Given the description of an element on the screen output the (x, y) to click on. 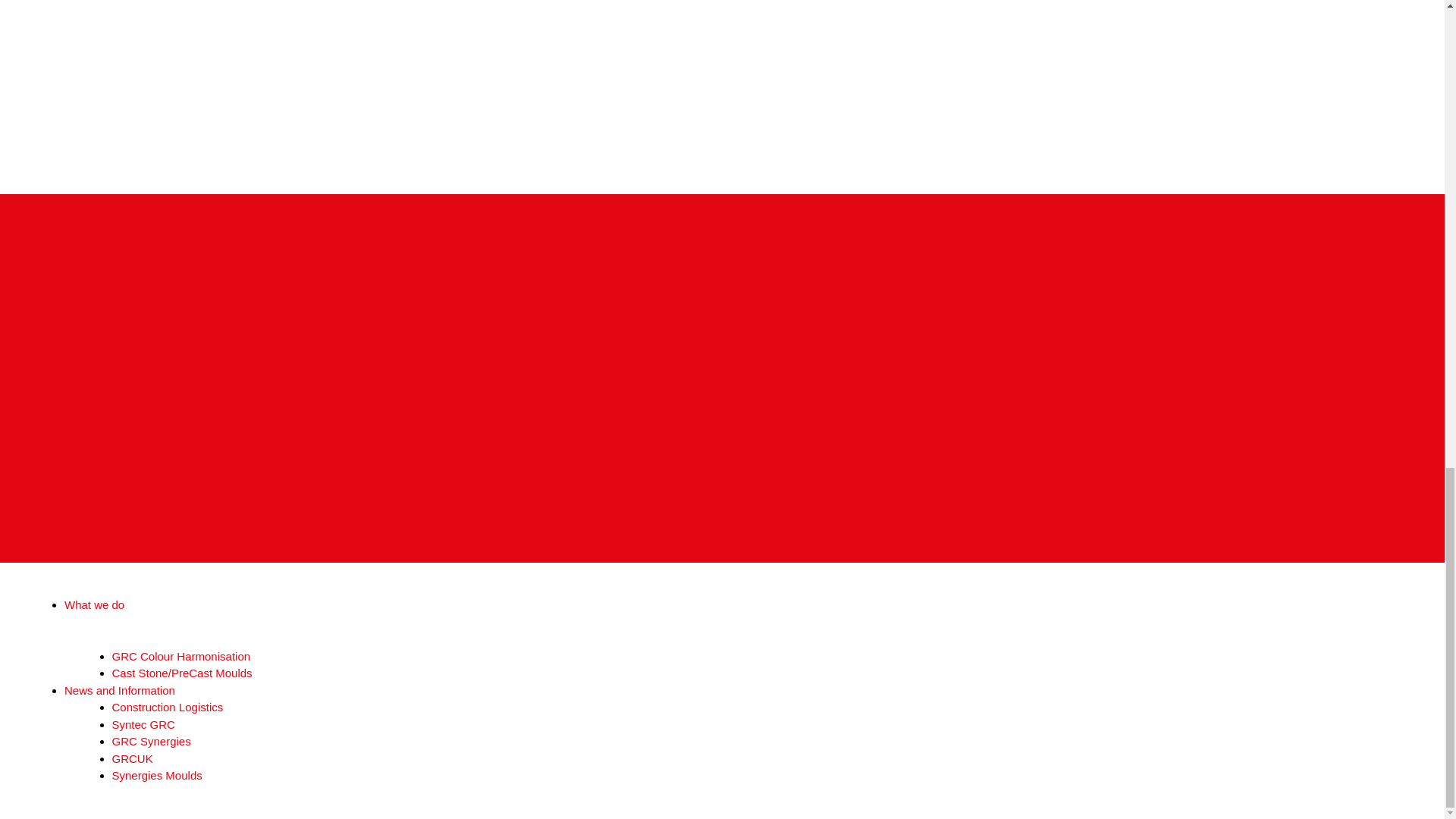
News and Information (119, 689)
What we do (93, 604)
GRC Colour Harmonisation (181, 656)
Syntec GRC (143, 724)
Construction Logistics (168, 707)
GRC Synergies (151, 740)
